Given the description of an element on the screen output the (x, y) to click on. 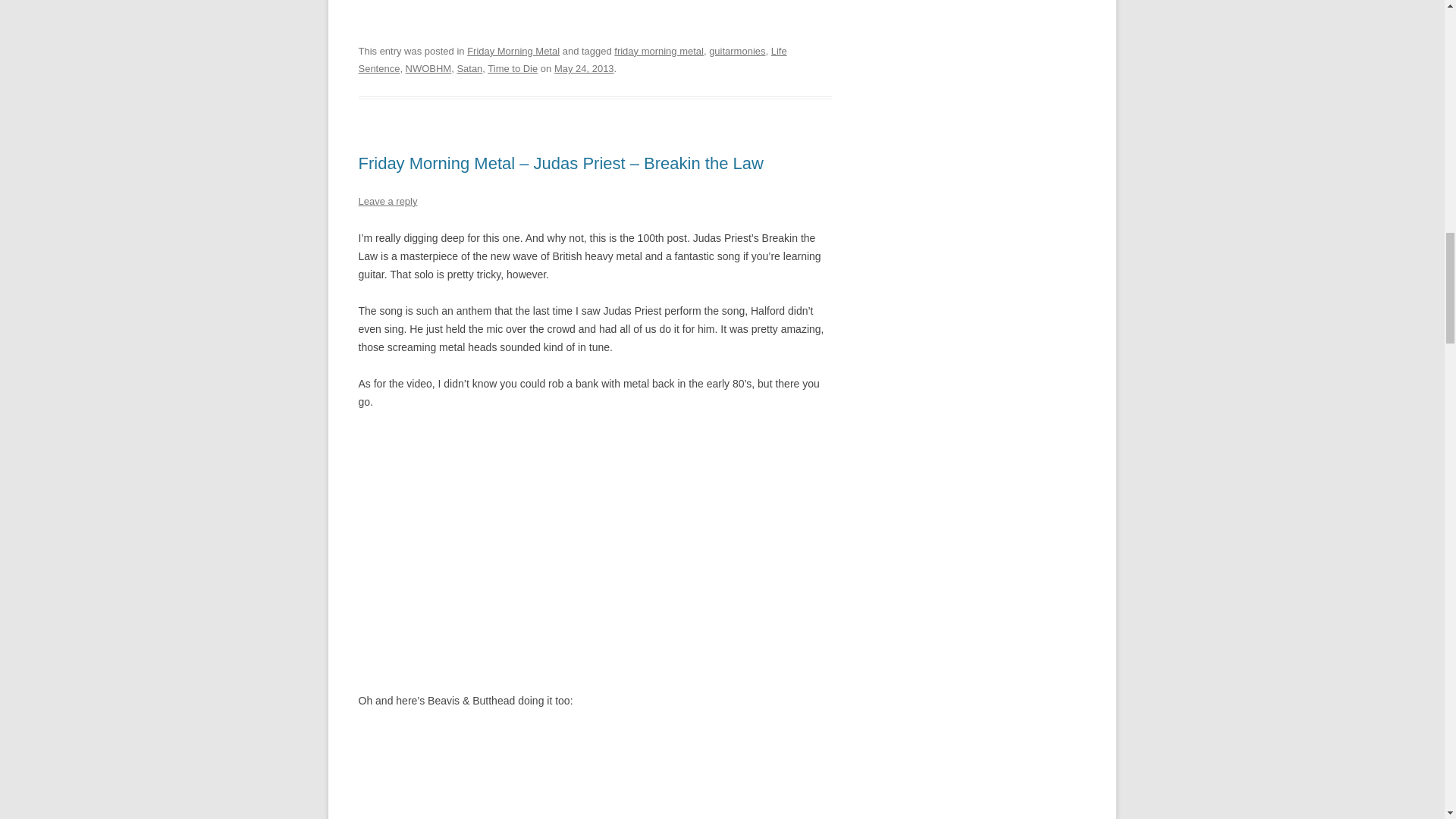
Time to Die (512, 68)
Life Sentence (572, 60)
9:03 am (584, 68)
Leave a reply (387, 201)
friday morning metal (658, 50)
Satan (469, 68)
NWOBHM (428, 68)
Friday Morning Metal (513, 50)
guitarmonies (737, 50)
May 24, 2013 (584, 68)
